Given the description of an element on the screen output the (x, y) to click on. 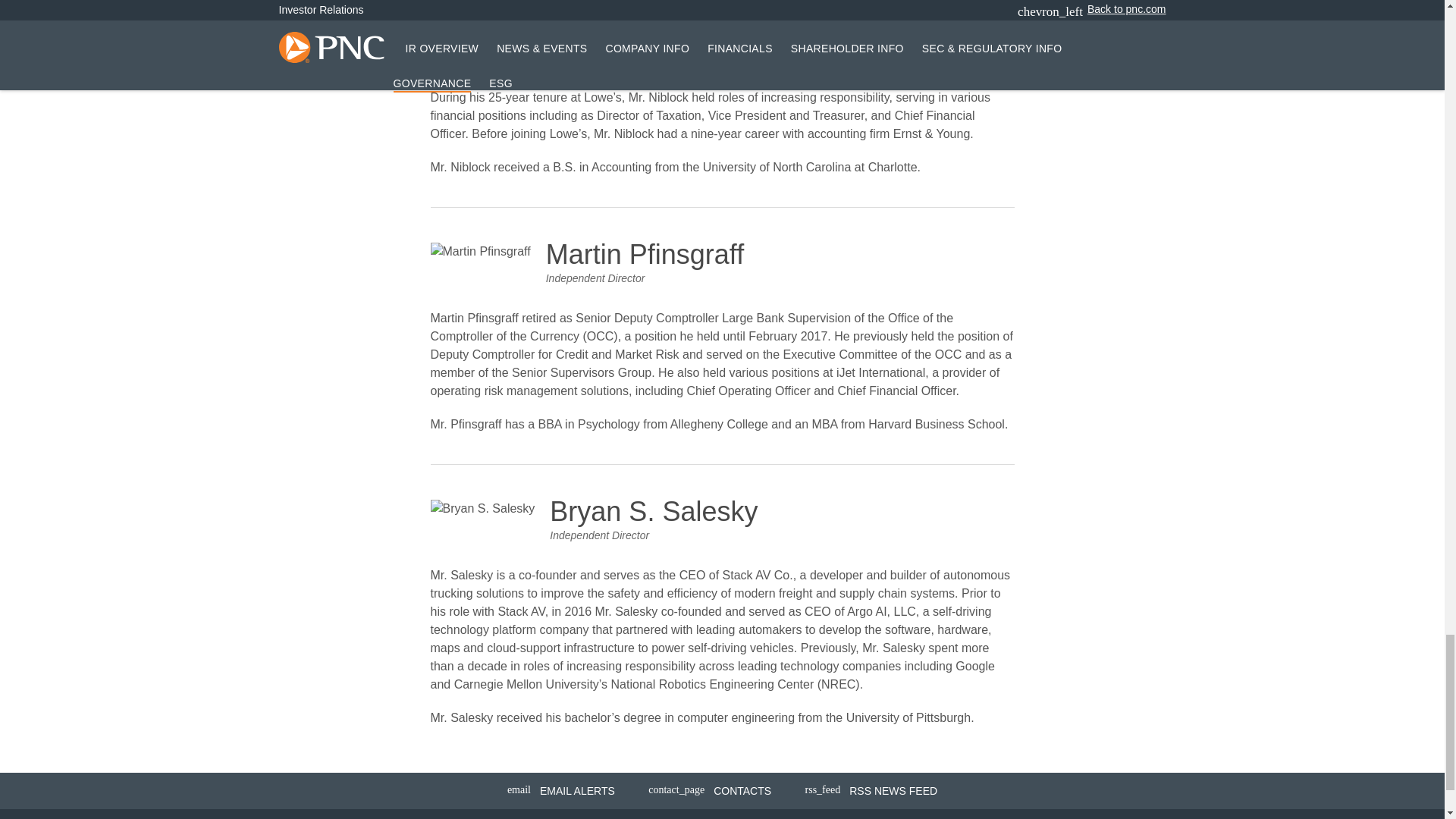
Opens in a new window (871, 791)
Bryan S. Salesky (482, 508)
Martin Pfinsgraff (480, 251)
